Given the description of an element on the screen output the (x, y) to click on. 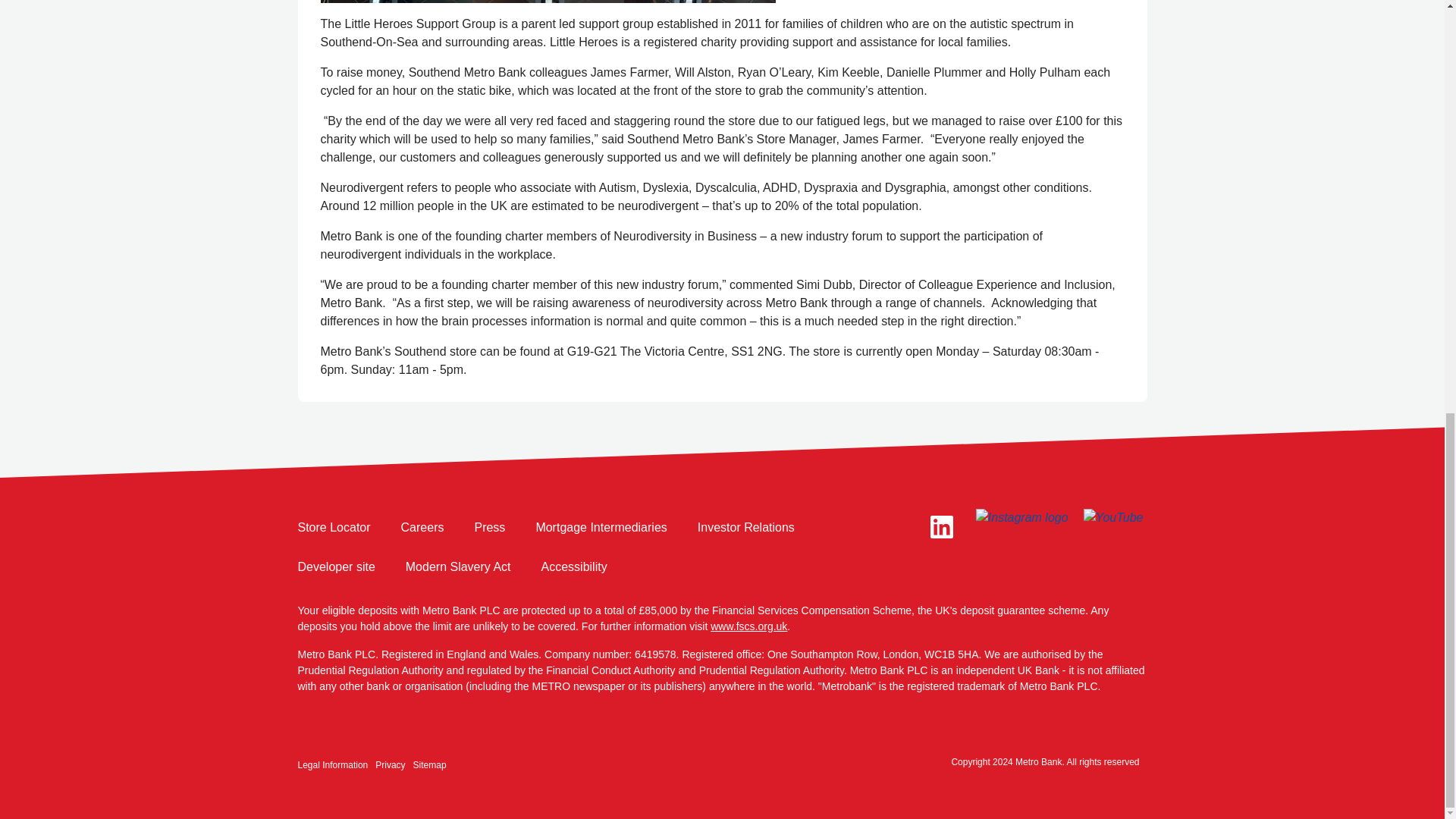
Careers (422, 527)
Developer site (335, 567)
Accessibility (574, 567)
Mortgage Intermediaries (600, 527)
FSCS Website (748, 625)
Investor Relations (745, 527)
Modern Slavery Act (458, 567)
Store Locator (333, 527)
